Given the description of an element on the screen output the (x, y) to click on. 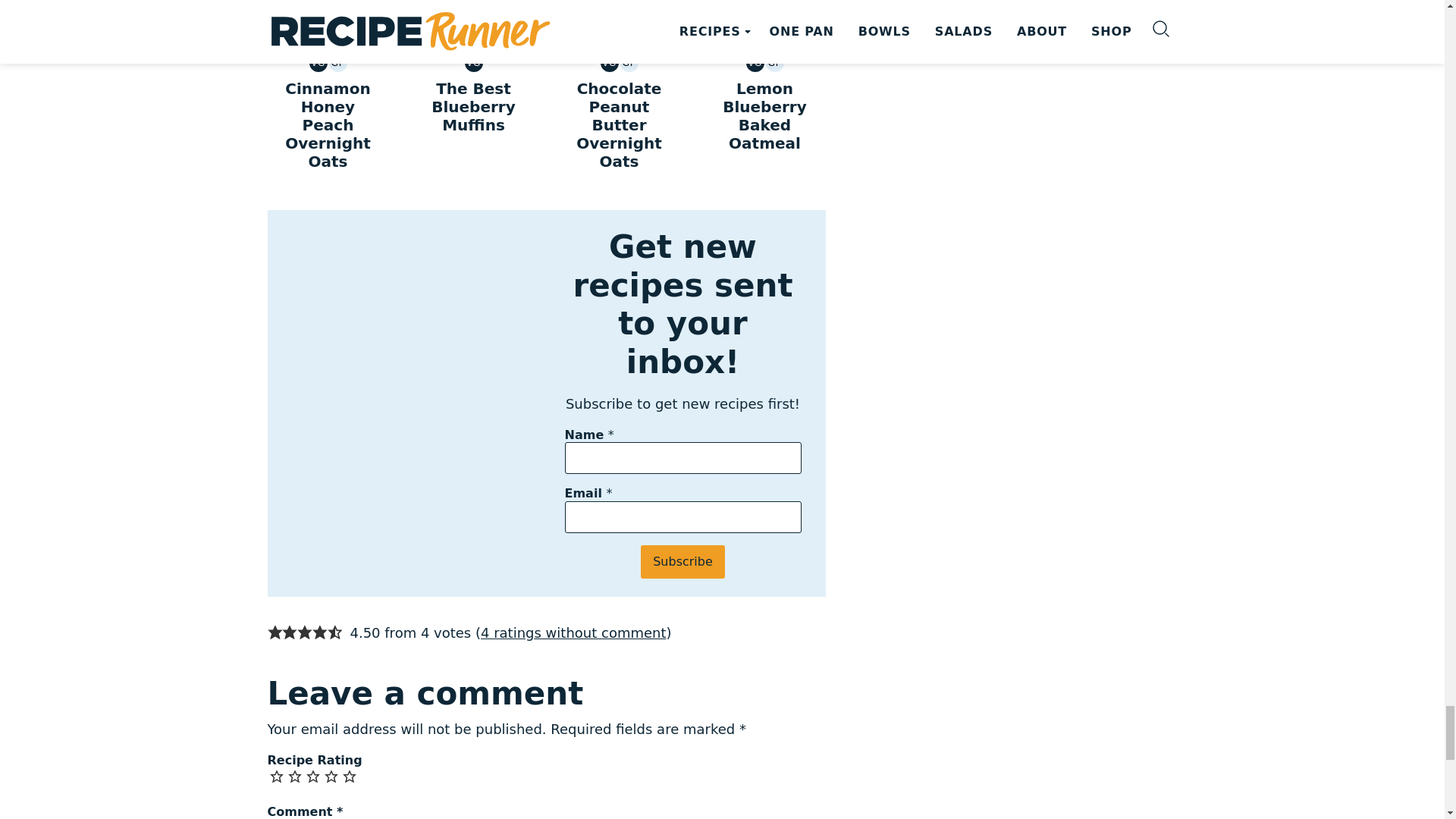
Gluten Free (338, 63)
Vegetarian (317, 63)
Vegetarian (472, 63)
